Given the description of an element on the screen output the (x, y) to click on. 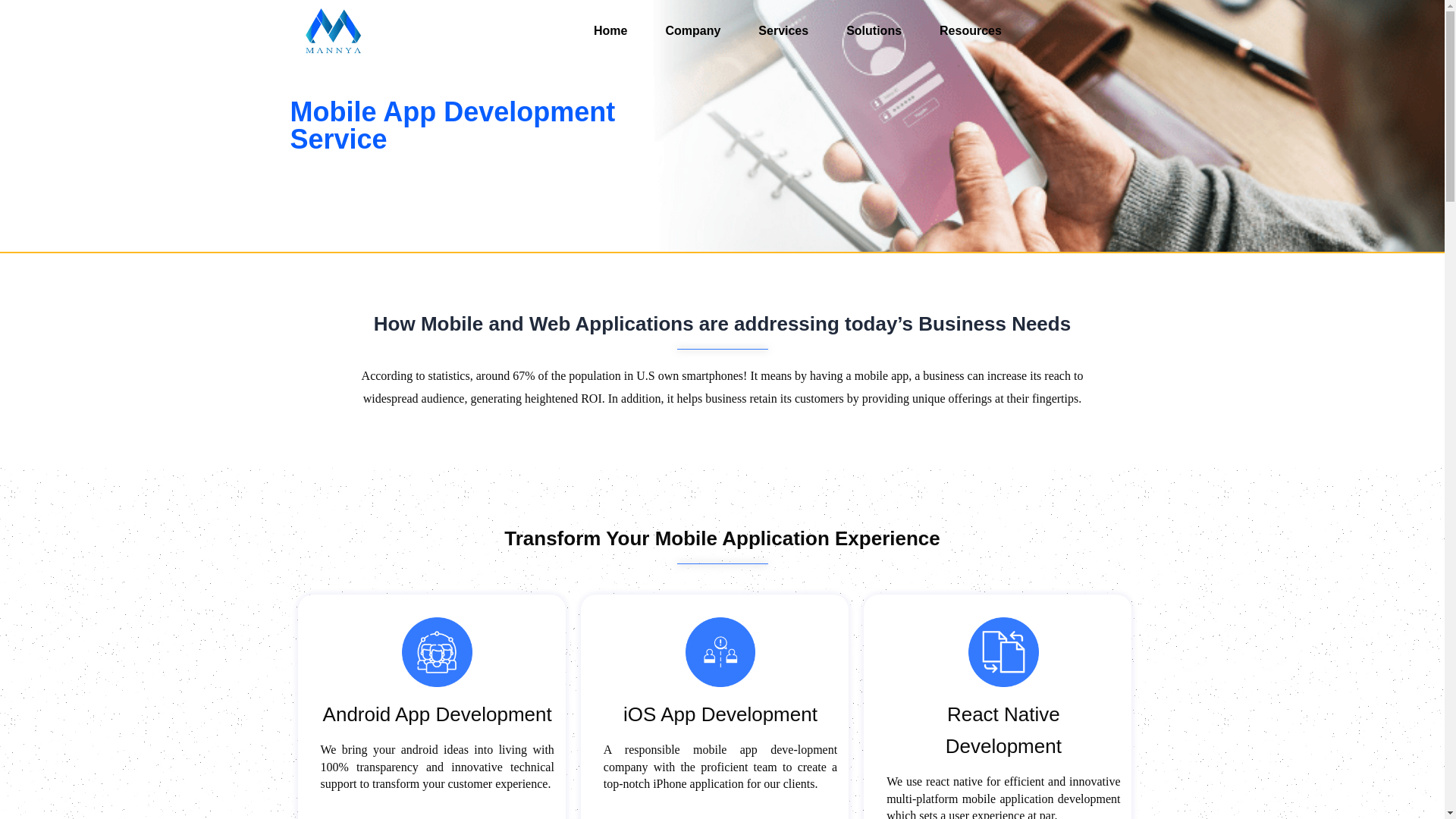
Services (783, 31)
Home (610, 31)
Company (692, 31)
